Given the description of an element on the screen output the (x, y) to click on. 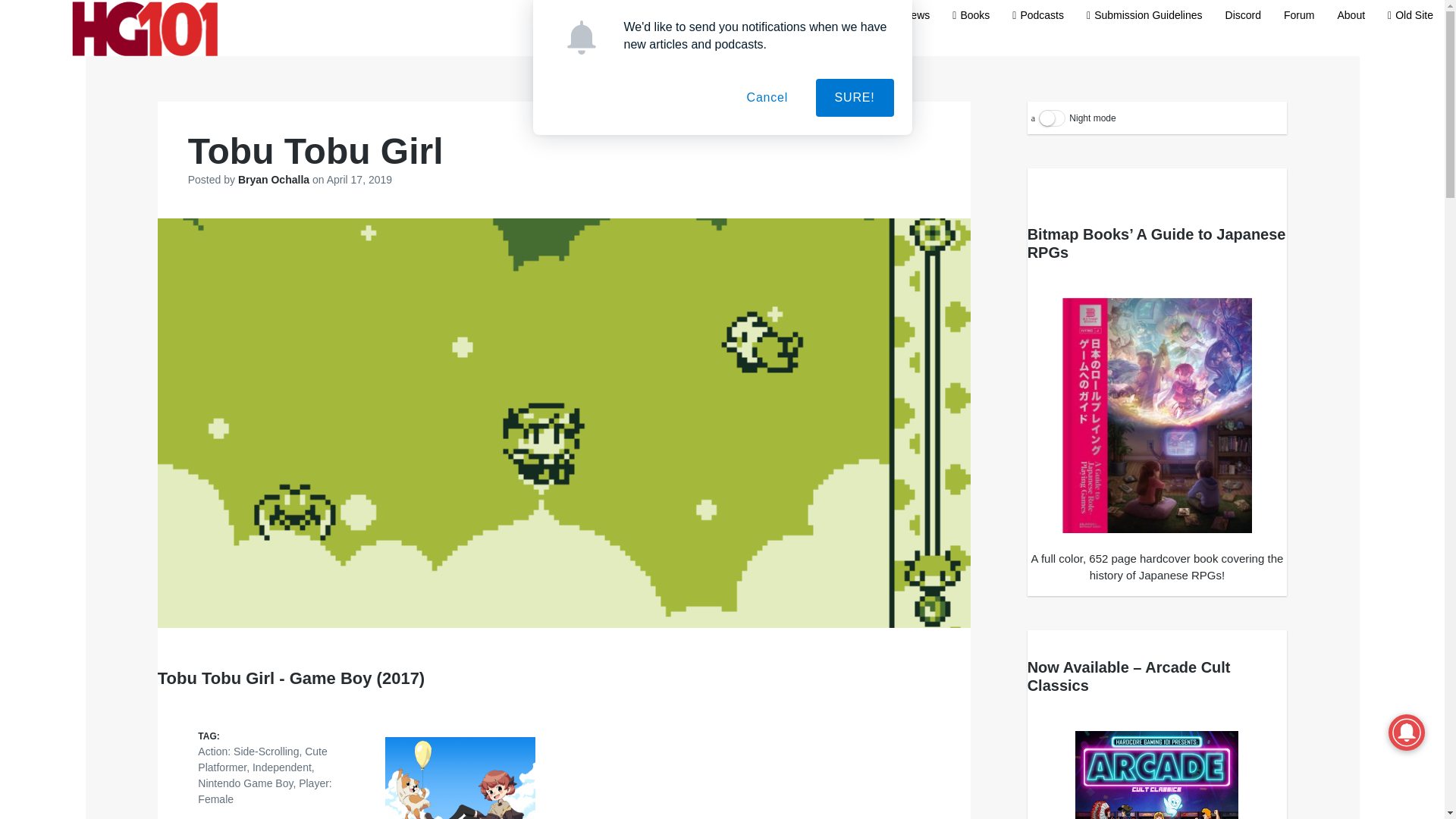
Player: Female (264, 791)
Independent (281, 767)
Cute Platformer (262, 759)
Bryan Ochalla (275, 179)
Action: Side-Scrolling (248, 751)
Nintendo Game Boy (245, 783)
